Given the description of an element on the screen output the (x, y) to click on. 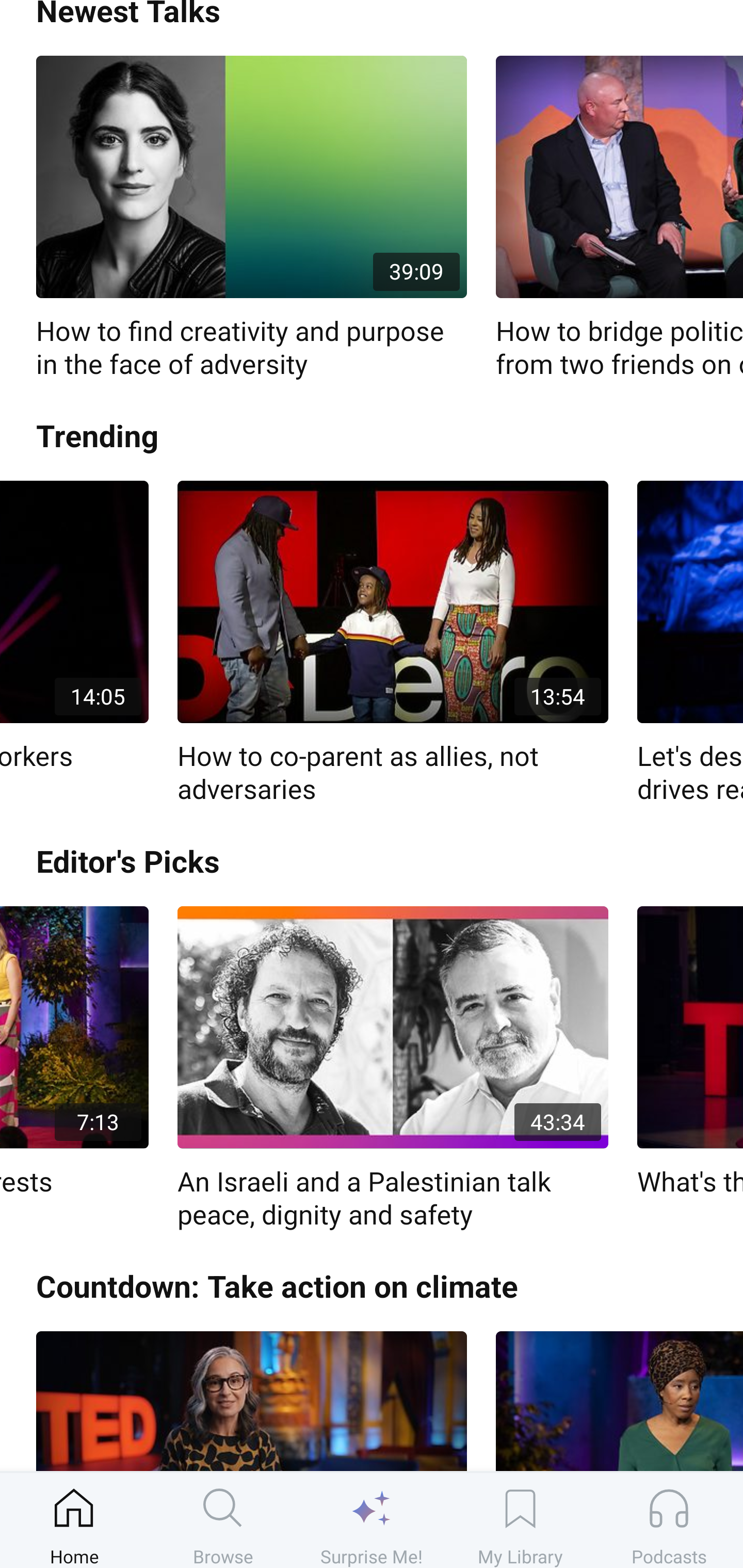
13:54 How to co-parent as allies, not adversaries (392, 643)
Home (74, 1520)
Browse (222, 1520)
Surprise Me! (371, 1520)
My Library (519, 1520)
Podcasts (668, 1520)
